Given the description of an element on the screen output the (x, y) to click on. 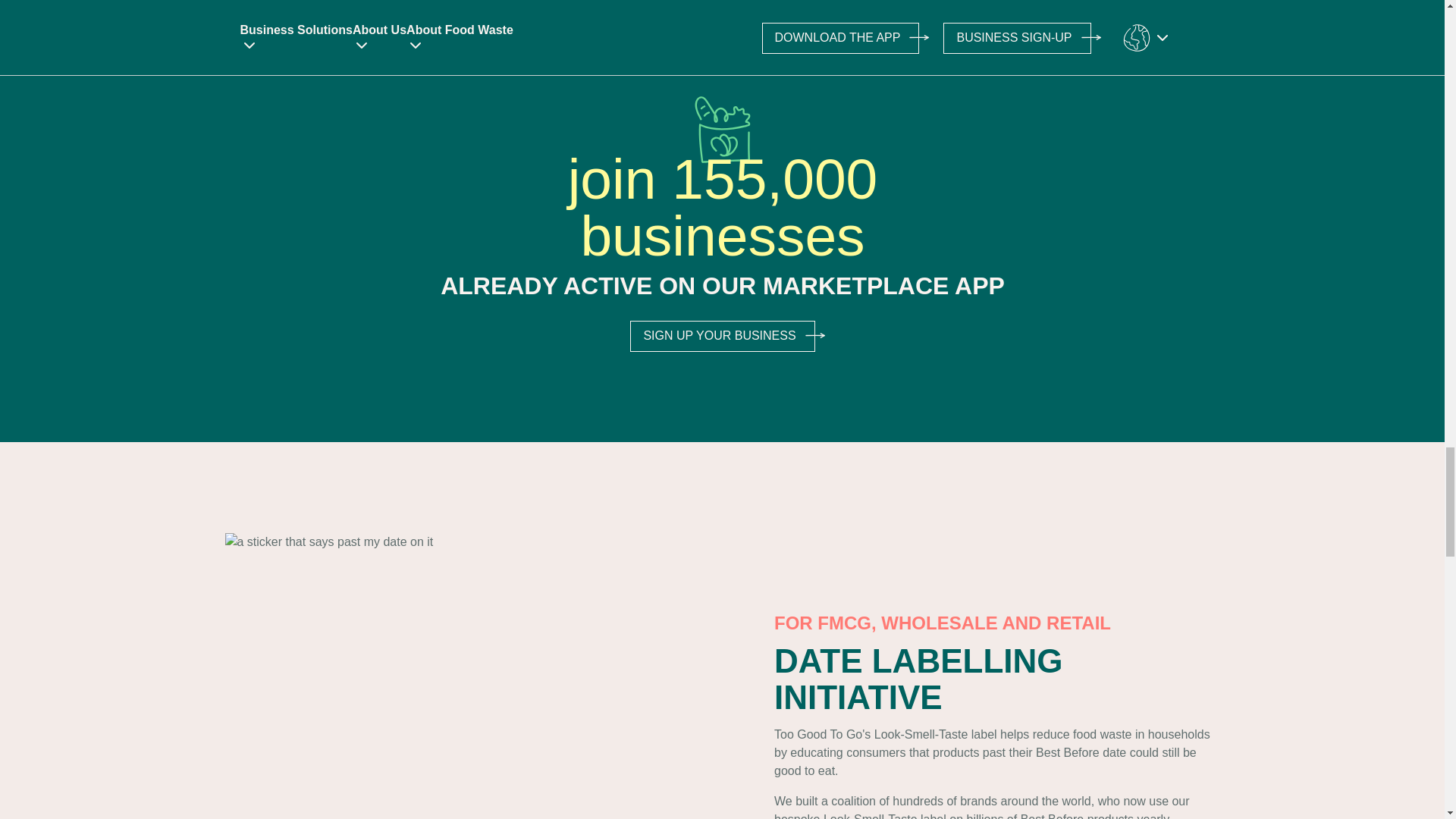
Sign up your business (721, 335)
